Given the description of an element on the screen output the (x, y) to click on. 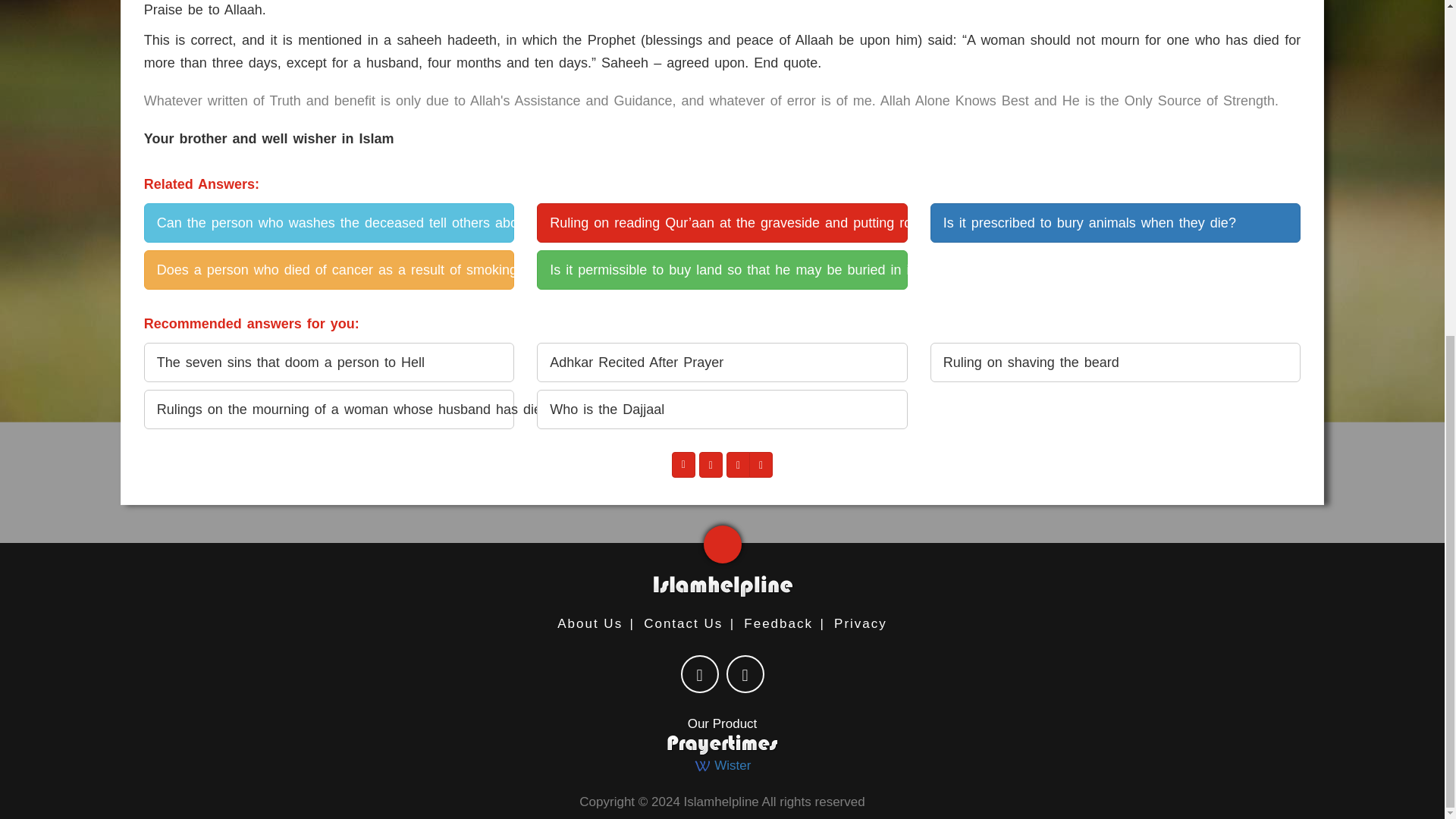
Rulings on the mourning of a woman whose husband has died (328, 409)
Is it prescribed to bury animals when they die? (1115, 222)
The seven sins that doom a person to Hell (328, 362)
Ruling on shaving the beard (1115, 362)
Who is the Dajjaal (722, 409)
Adhkar Recited After Prayer (722, 362)
